Given the description of an element on the screen output the (x, y) to click on. 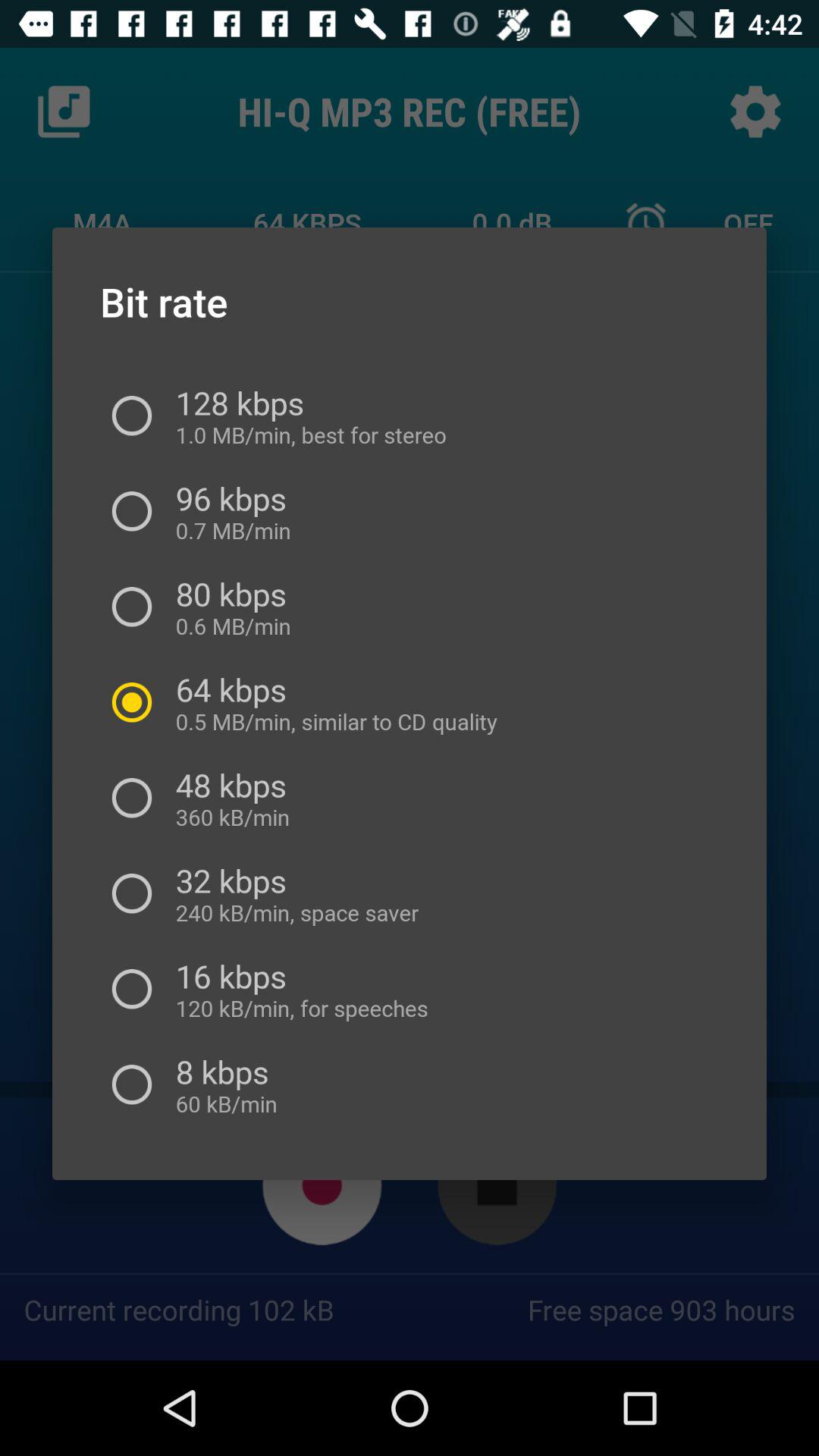
scroll until the 32 kbps 240 (290, 893)
